Given the description of an element on the screen output the (x, y) to click on. 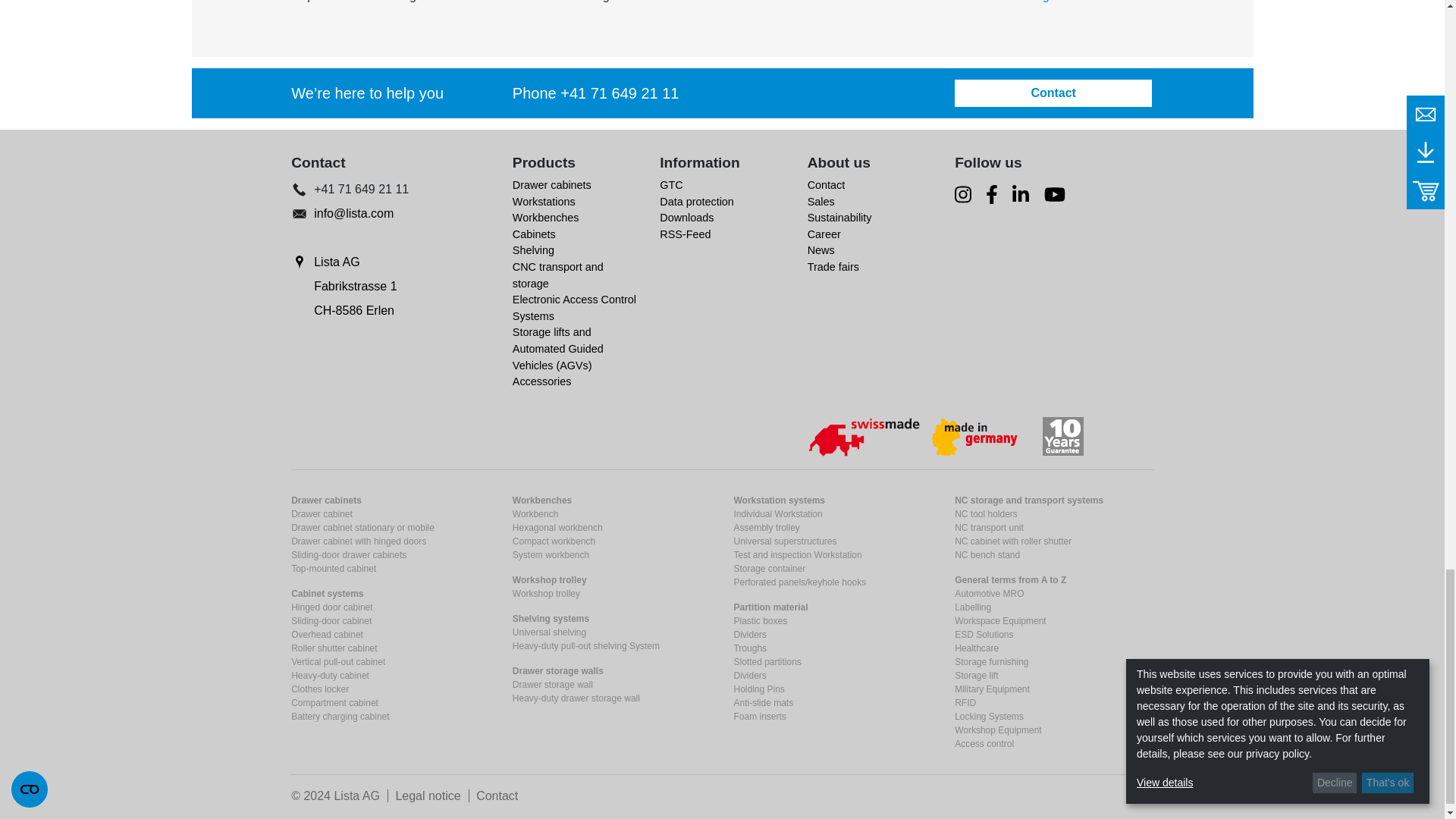
Shelving (533, 250)
Workstations (543, 201)
Trade fairs (833, 266)
Drawer cabinets (551, 184)
Workbenches (545, 217)
Sales (821, 201)
Sustainability (840, 217)
Cabinets (534, 234)
CNC transport and storage (558, 275)
Contact (826, 184)
Electronic Access Control Systems (574, 307)
Accessories (542, 381)
News (821, 250)
Career (824, 234)
